Given the description of an element on the screen output the (x, y) to click on. 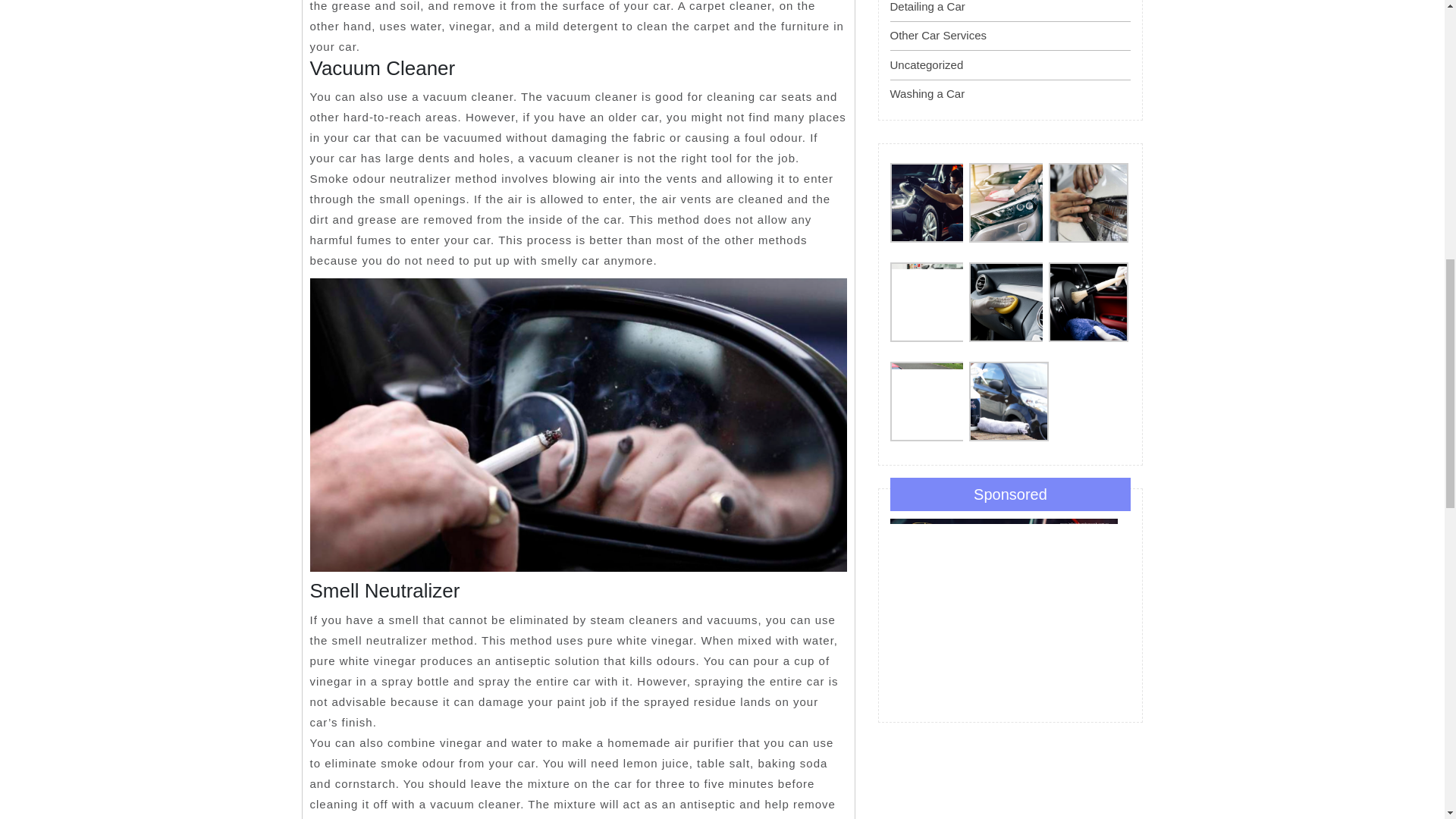
Washing a Car (927, 92)
Other Car Services (938, 34)
Detailing a Car (927, 6)
Uncategorized (926, 64)
